Given the description of an element on the screen output the (x, y) to click on. 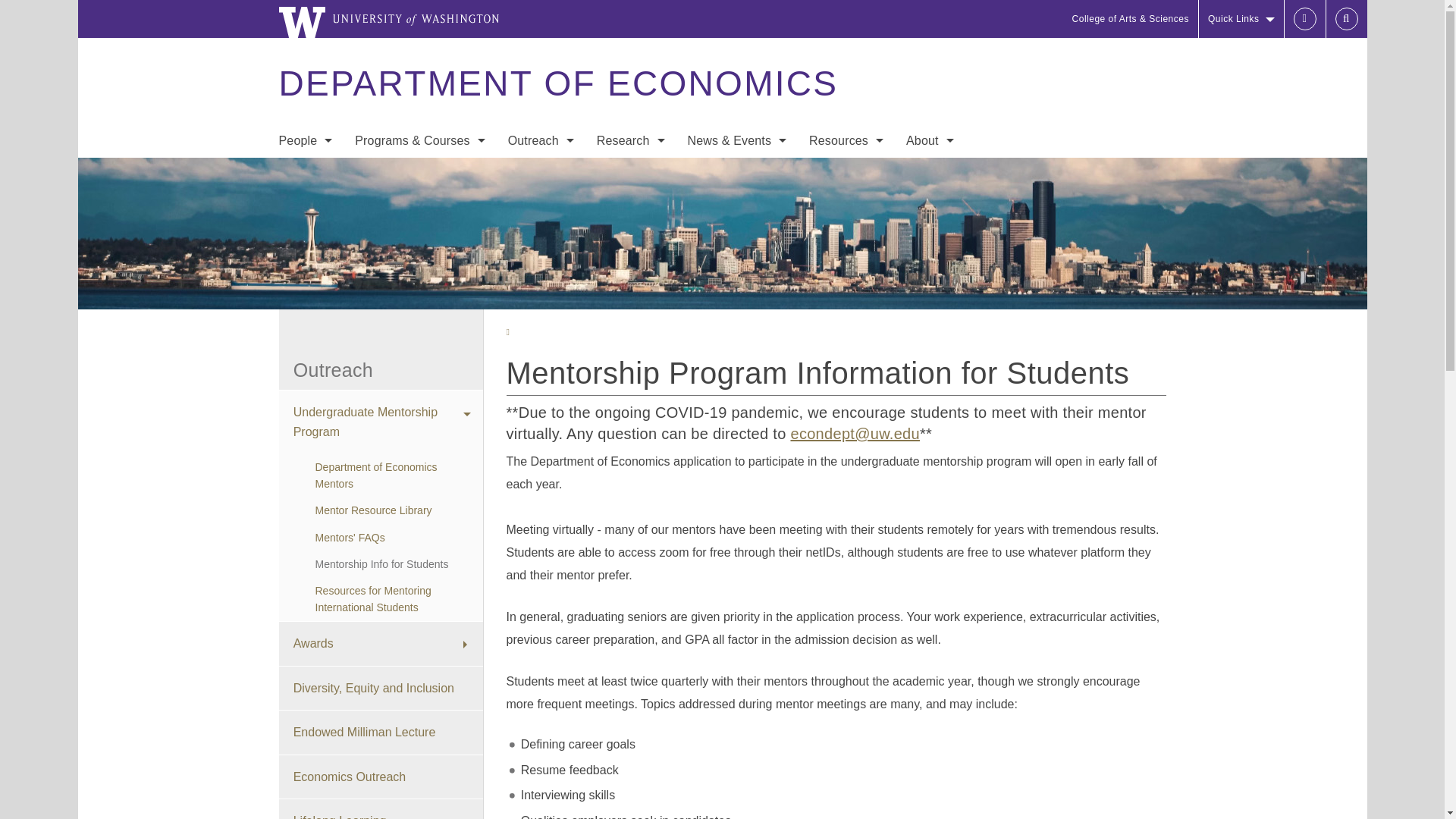
Graduate Students (304, 263)
Department of Economics Home (557, 83)
Faculty (304, 173)
Undergraduate (419, 173)
Staff (304, 233)
DEPARTMENT OF ECONOMICS (557, 83)
Alumni (304, 294)
Visitors (304, 203)
Quick Links (1241, 18)
UWNetID Login (1304, 18)
People (304, 140)
